Given the description of an element on the screen output the (x, y) to click on. 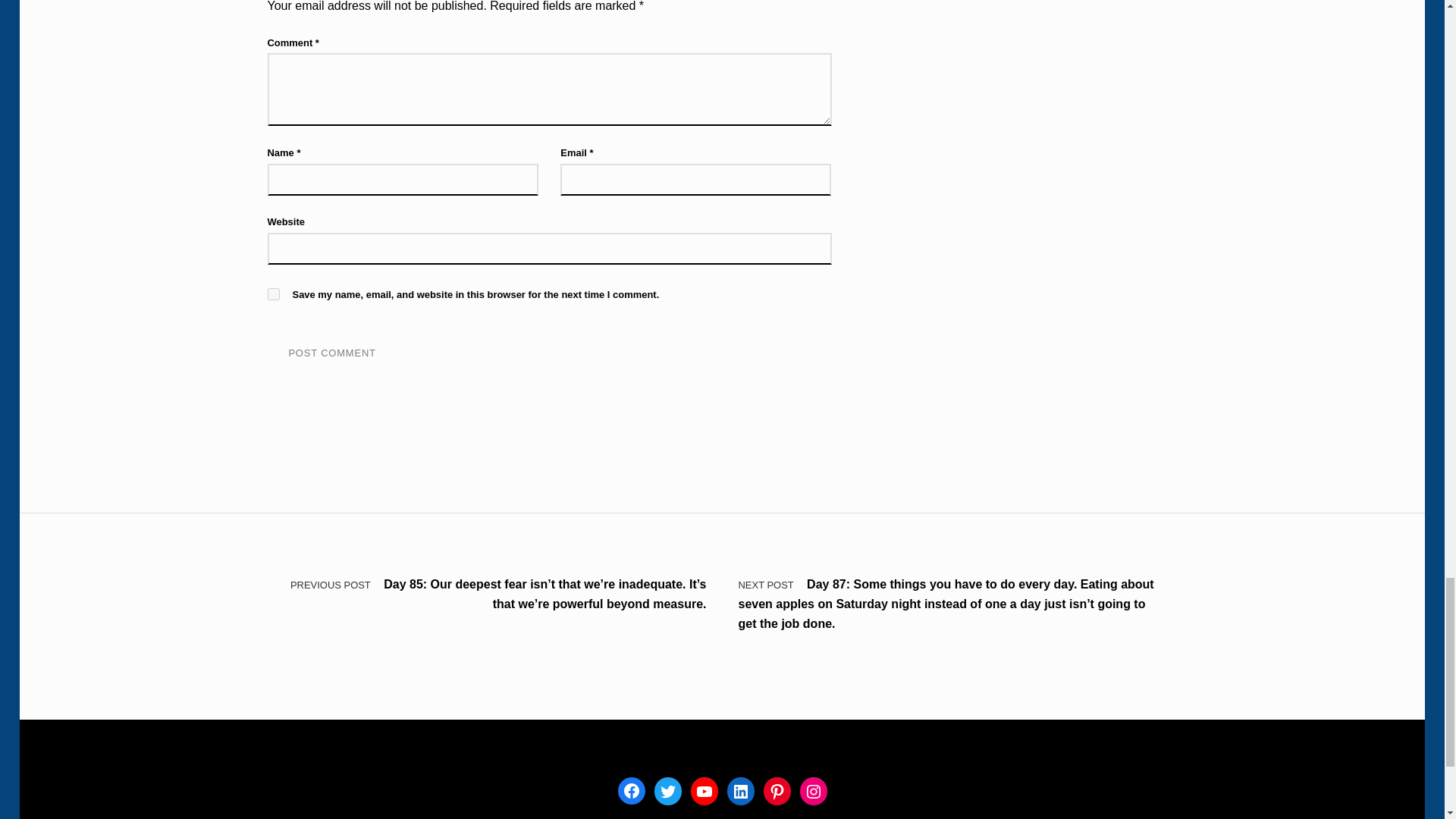
Post Comment (331, 353)
Post Comment (331, 353)
yes (272, 294)
